Given the description of an element on the screen output the (x, y) to click on. 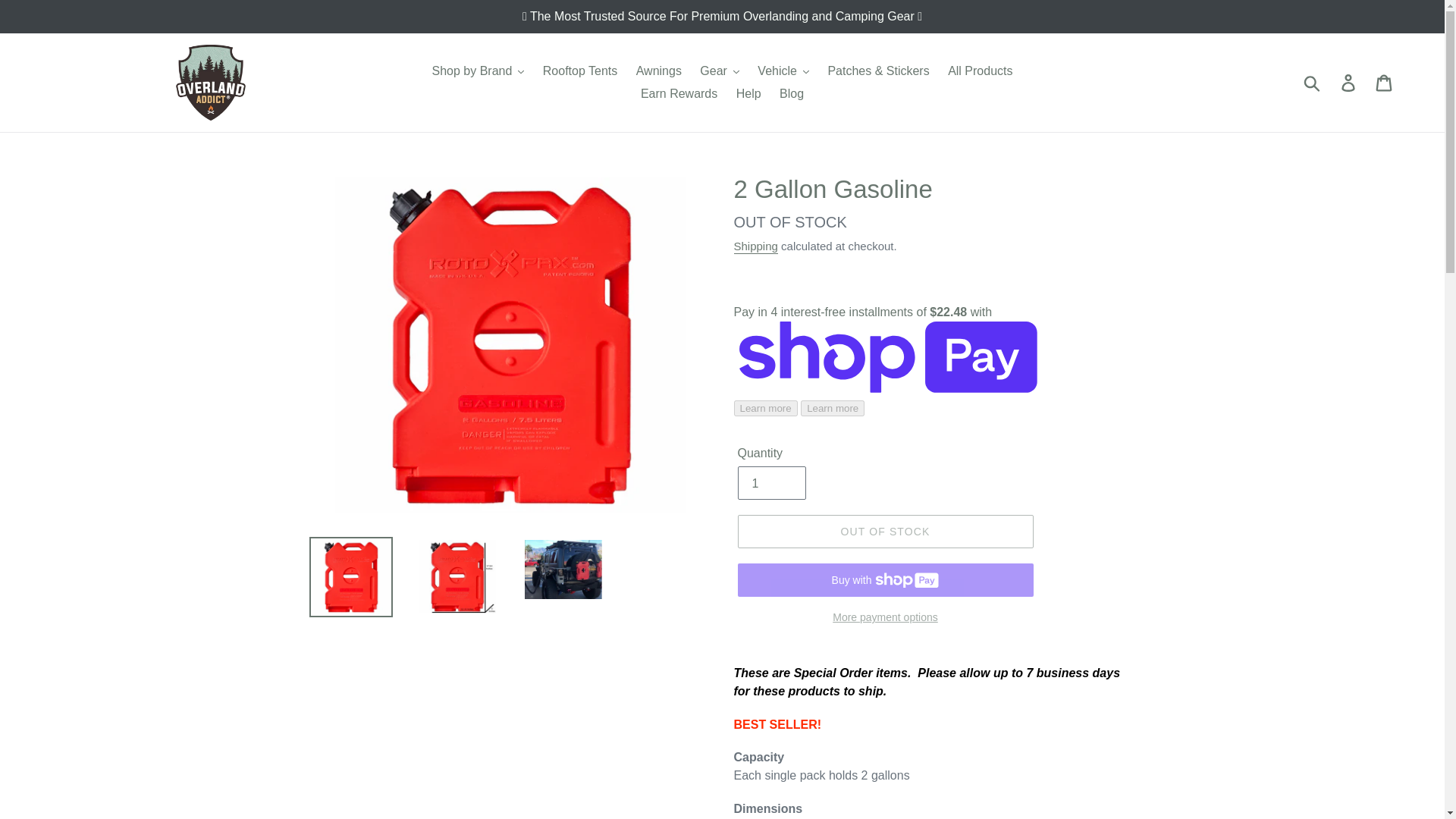
1 (770, 482)
